Given the description of an element on the screen output the (x, y) to click on. 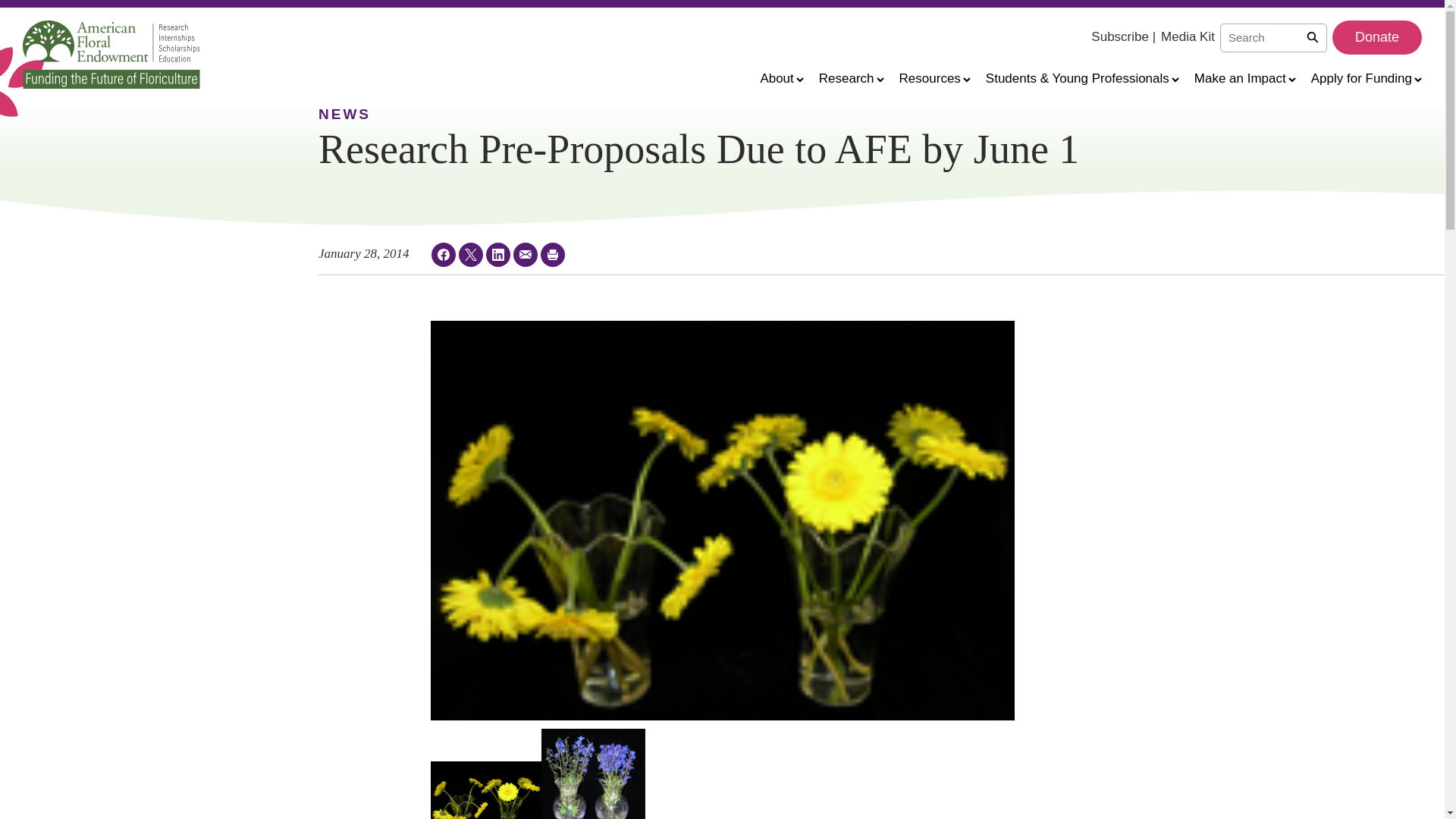
Resources (935, 77)
Research (850, 77)
homepage (111, 54)
Make an Impact (1244, 77)
About (781, 77)
